Given the description of an element on the screen output the (x, y) to click on. 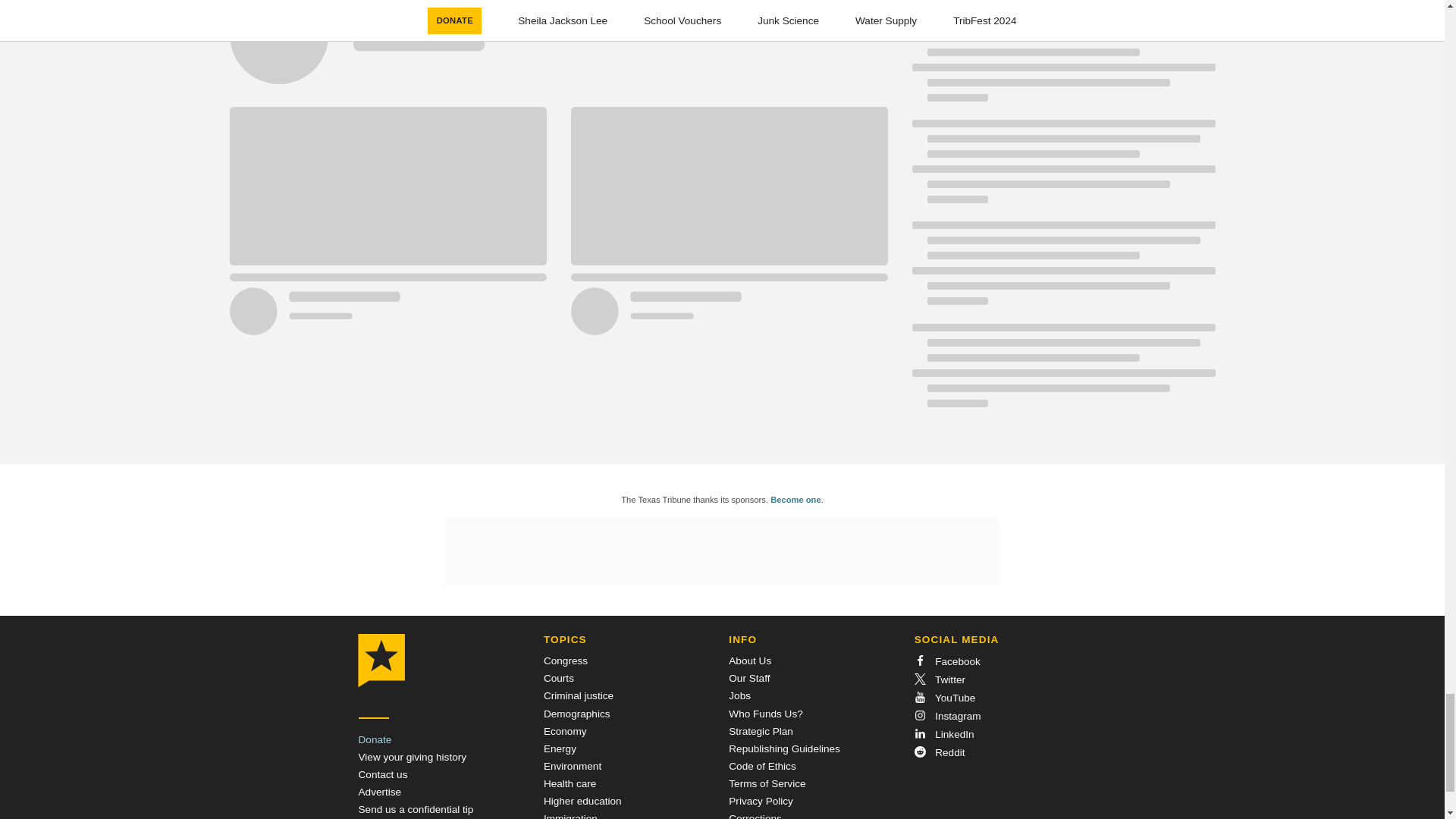
Loading indicator (557, 52)
Facebook (946, 661)
About Us (750, 660)
Contact us (382, 774)
Privacy Policy (761, 800)
Donate (374, 739)
View your giving history (411, 756)
Advertise (379, 791)
Code of Ethics (761, 766)
Send a Tip (415, 808)
